Given the description of an element on the screen output the (x, y) to click on. 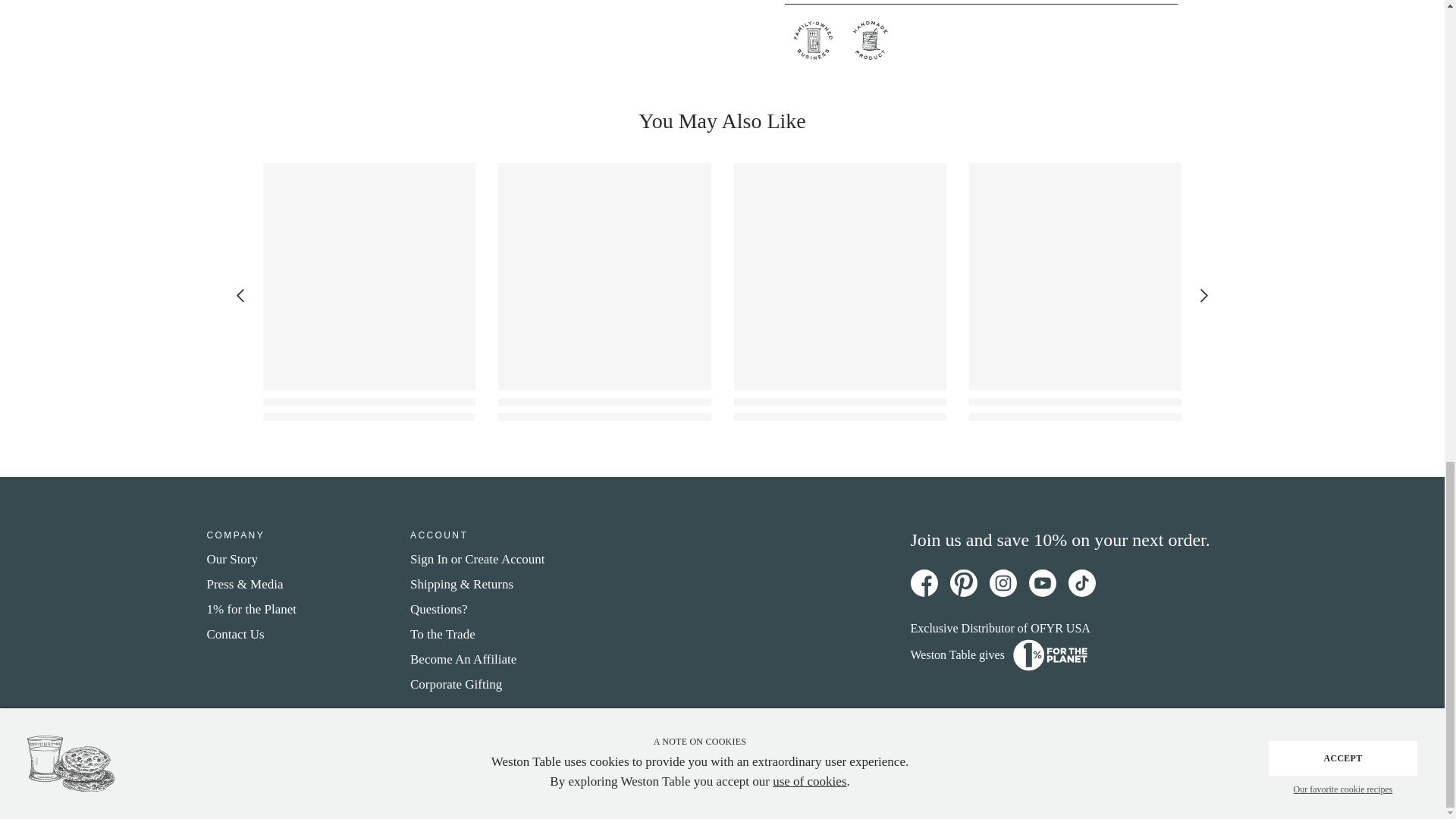
facebook Created with Sketch. (923, 583)
Weston Table on Instagram (1002, 583)
instagram Created with Sketch. (1002, 583)
Weston Table on Pinterest (962, 583)
Weston Table on Facebook (923, 583)
pinterest-circular-logo-symbol Created with Sketch. (962, 583)
Weston Table on TikTok (1080, 583)
Weston Table on Youtube (1041, 583)
